Given the description of an element on the screen output the (x, y) to click on. 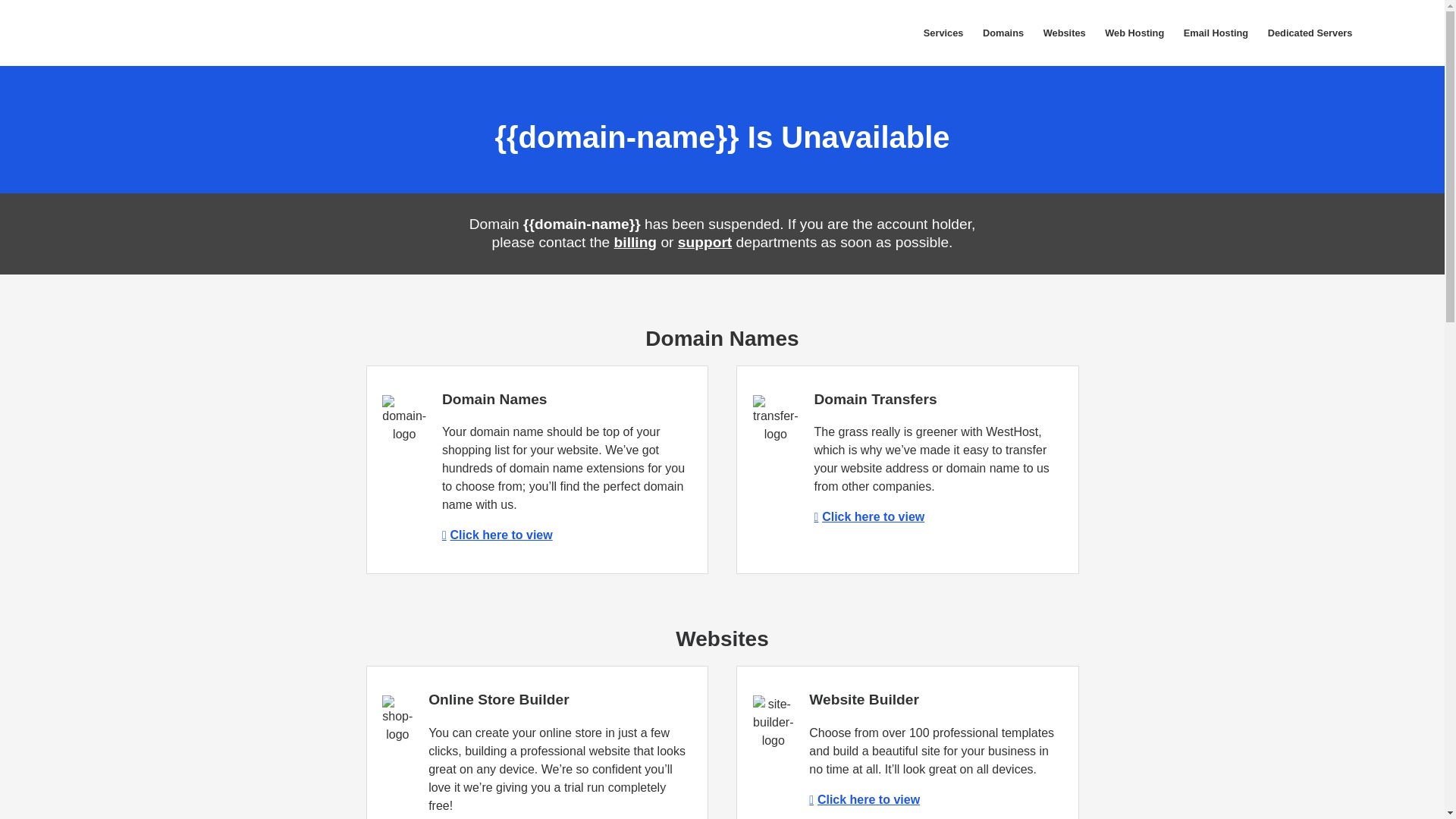
Click here to view (864, 799)
billing (636, 242)
Click here to view (868, 516)
Services (943, 32)
Click here to view (497, 534)
Websites (1064, 32)
support (705, 242)
Email Hosting (1215, 32)
Dedicated Servers (1309, 32)
Domains (1002, 32)
